Given the description of an element on the screen output the (x, y) to click on. 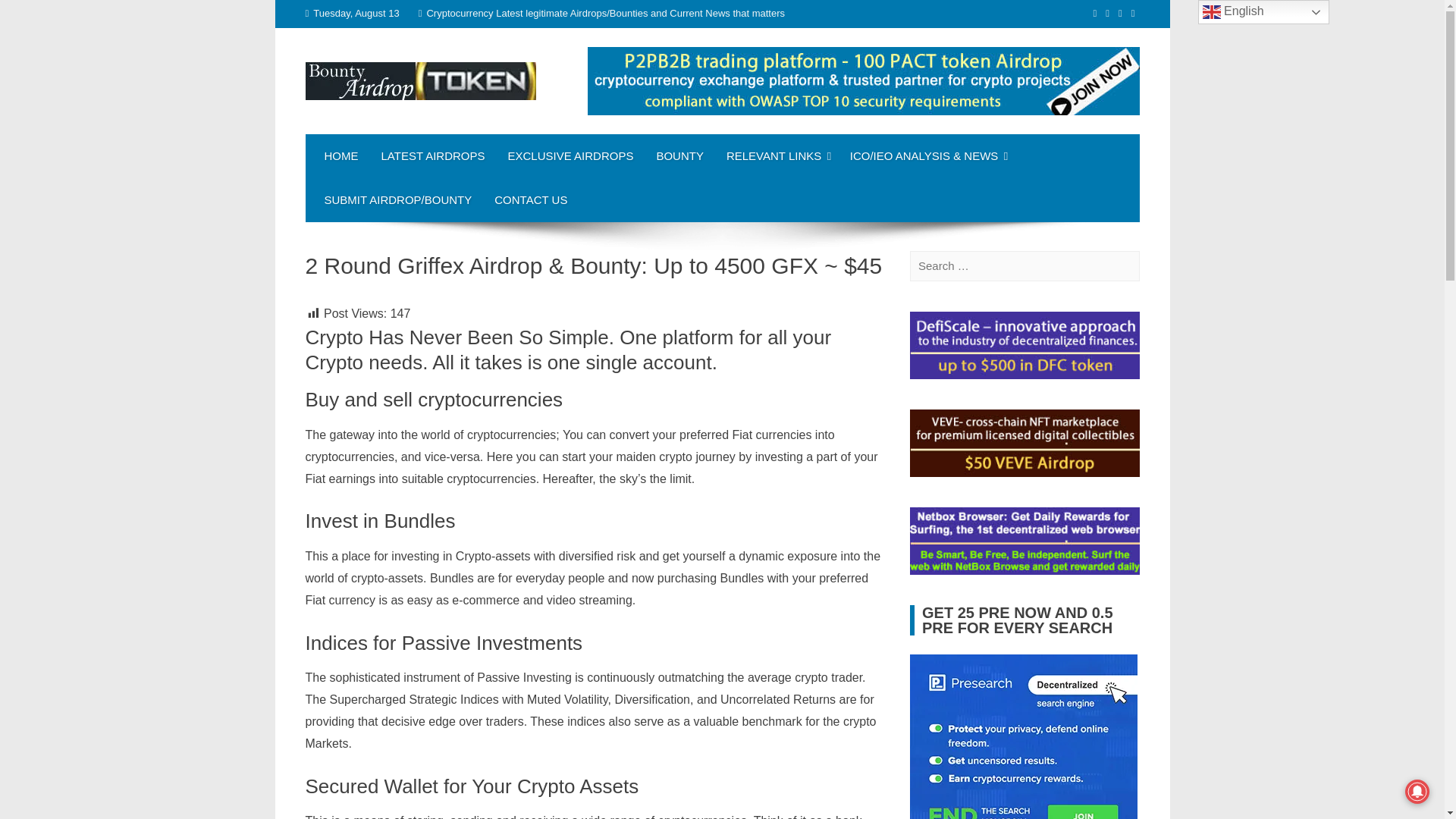
Presearch (1023, 736)
HOME (341, 156)
CONTACT US (530, 199)
BOUNTY (679, 156)
EXCLUSIVE AIRDROPS (570, 156)
LATEST AIRDROPS (432, 156)
RELEVANT LINKS (776, 156)
